Given the description of an element on the screen output the (x, y) to click on. 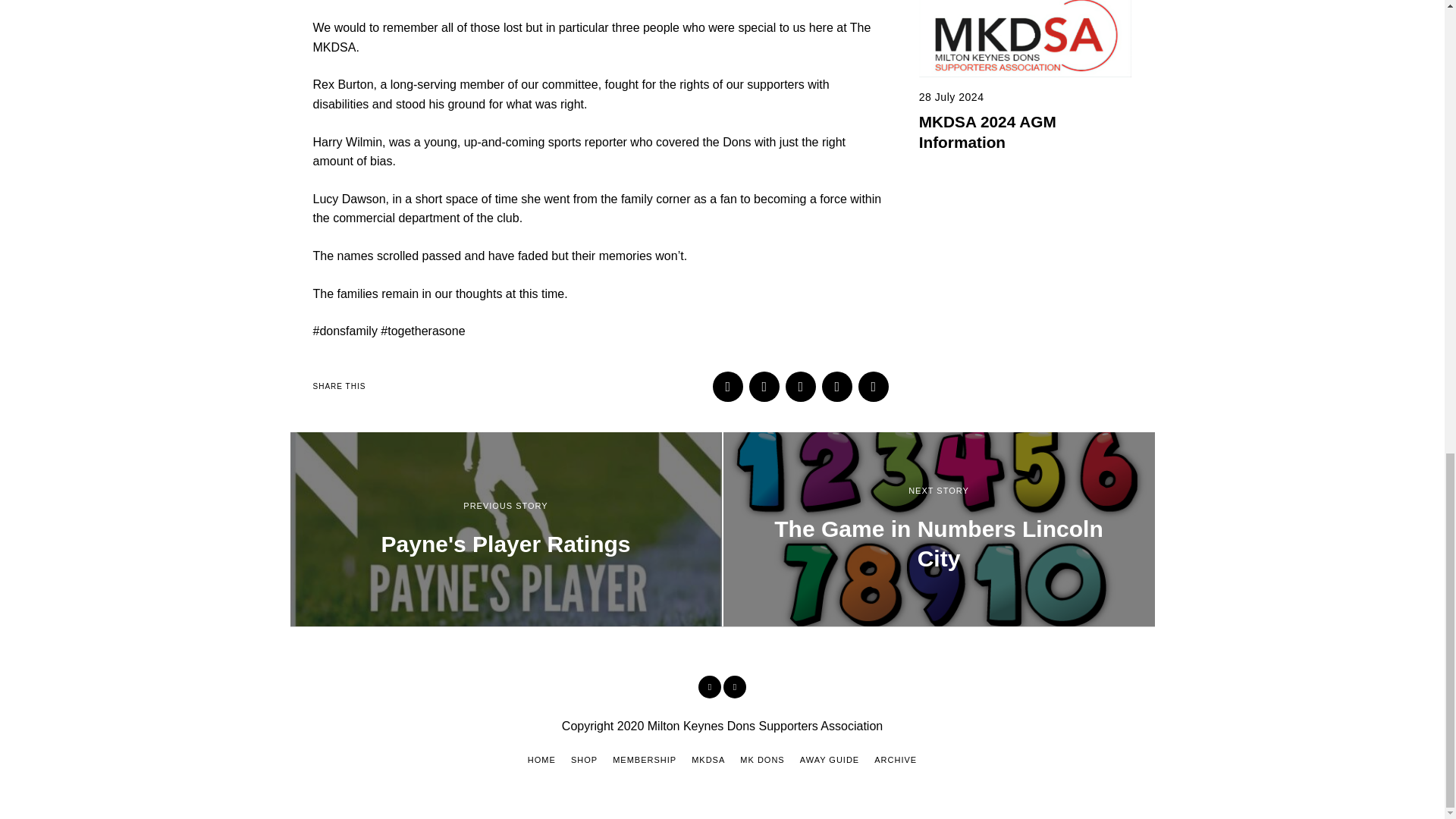
Facebook (709, 686)
Twitter (734, 686)
